Given the description of an element on the screen output the (x, y) to click on. 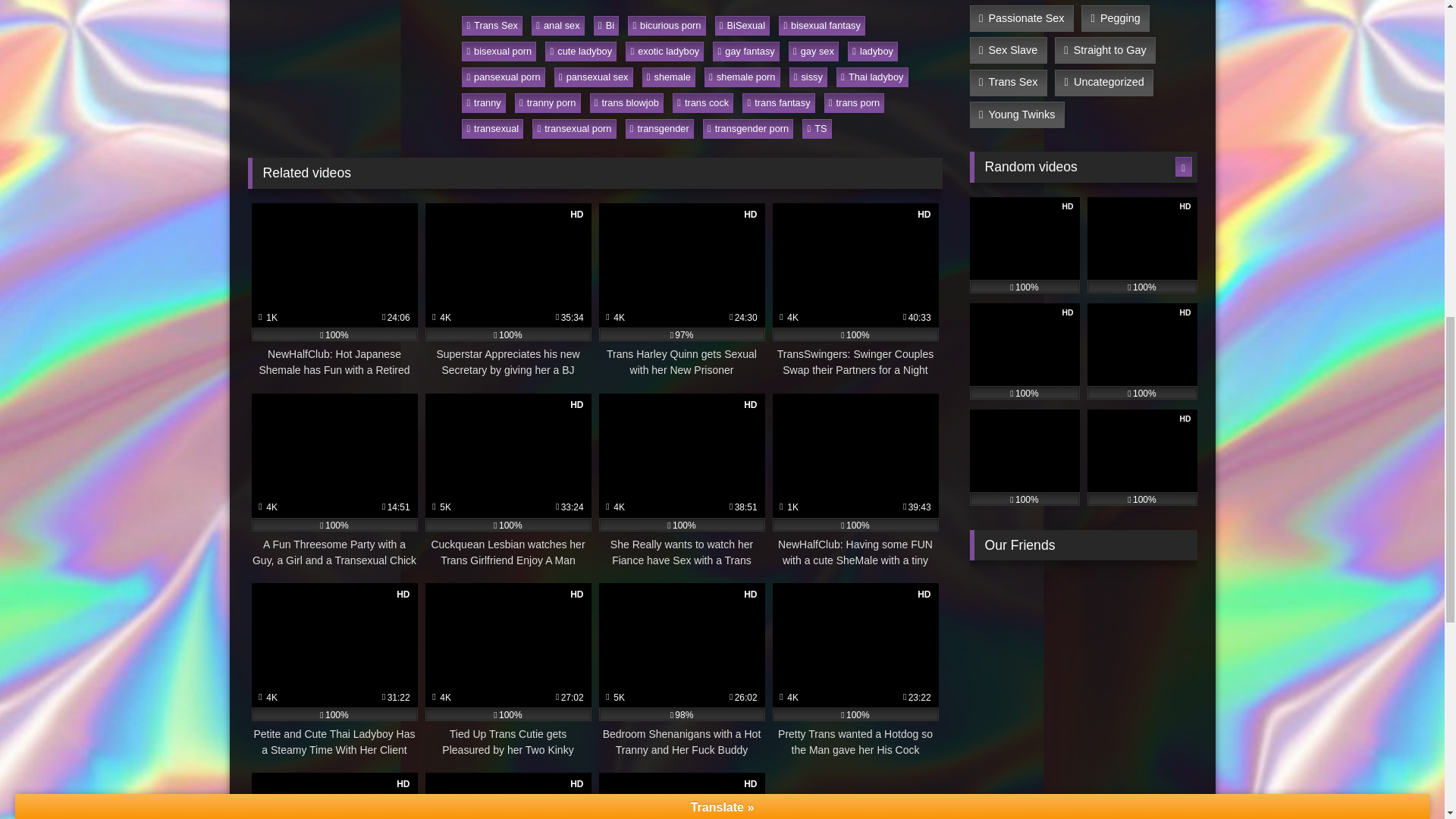
bisexual fantasy (821, 25)
shemale porn (741, 76)
anal sex (558, 25)
anal sex (558, 25)
transgender (660, 128)
BiSexual (742, 25)
gay fantasy (745, 51)
cute ladyboy (579, 51)
shemale (668, 76)
Bi (606, 25)
